Given the description of an element on the screen output the (x, y) to click on. 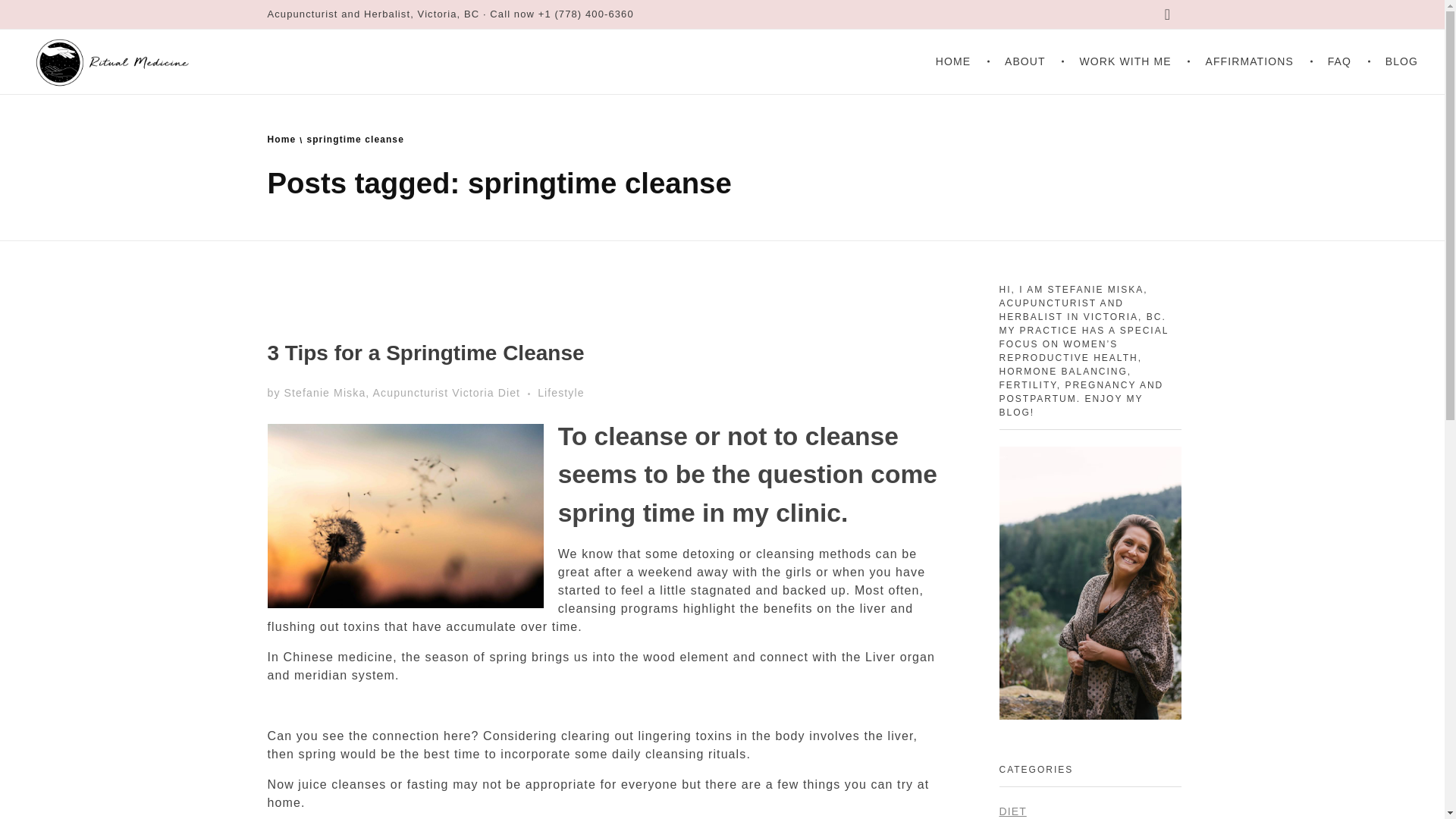
AFFIRMATIONS (1252, 61)
Search (42, 13)
3 Tips for a Springtime Cleanse (424, 352)
FAQ (1342, 61)
WORK WITH ME (1128, 61)
Stefanie Miska, Acupuncturist Victoria (390, 392)
DIET (1012, 811)
View all posts in Lifestyle (561, 392)
Home (280, 139)
View all posts by Stefanie Miska, Acupuncturist Victoria (390, 392)
ABOUT (1028, 61)
Home (280, 139)
Diet (517, 392)
Lifestyle (561, 392)
View all posts in Diet (517, 392)
